Given the description of an element on the screen output the (x, y) to click on. 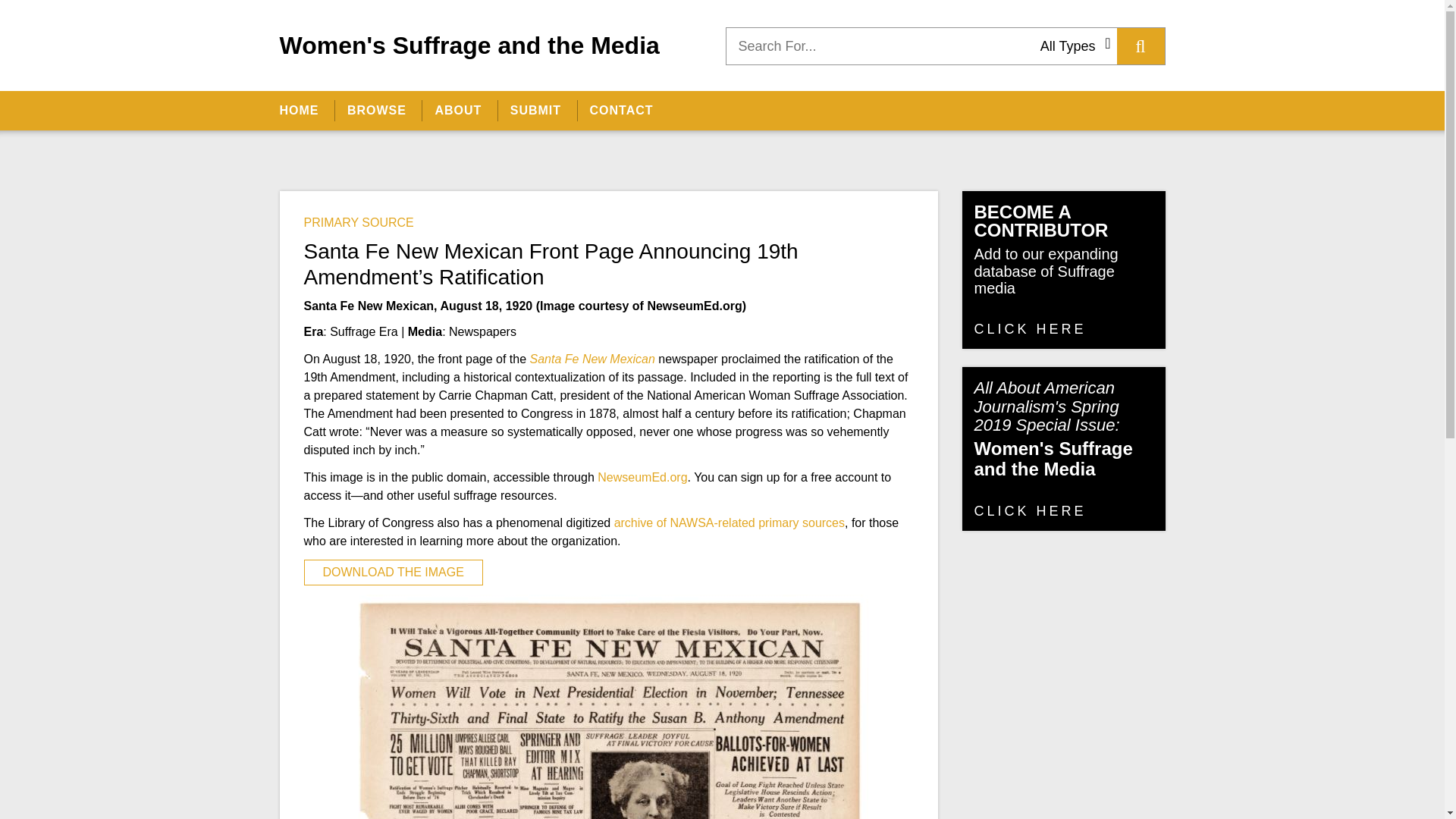
NewseumEd.org (641, 477)
American Journalism: A Journal of Media History (1076, 121)
CONTACT (620, 110)
Santa Fe New Mexican (593, 358)
DOWNLOAD THE IMAGE (391, 572)
SUBMIT (535, 110)
Women's Suffrage and the Media (469, 45)
HOME (304, 110)
